Given the description of an element on the screen output the (x, y) to click on. 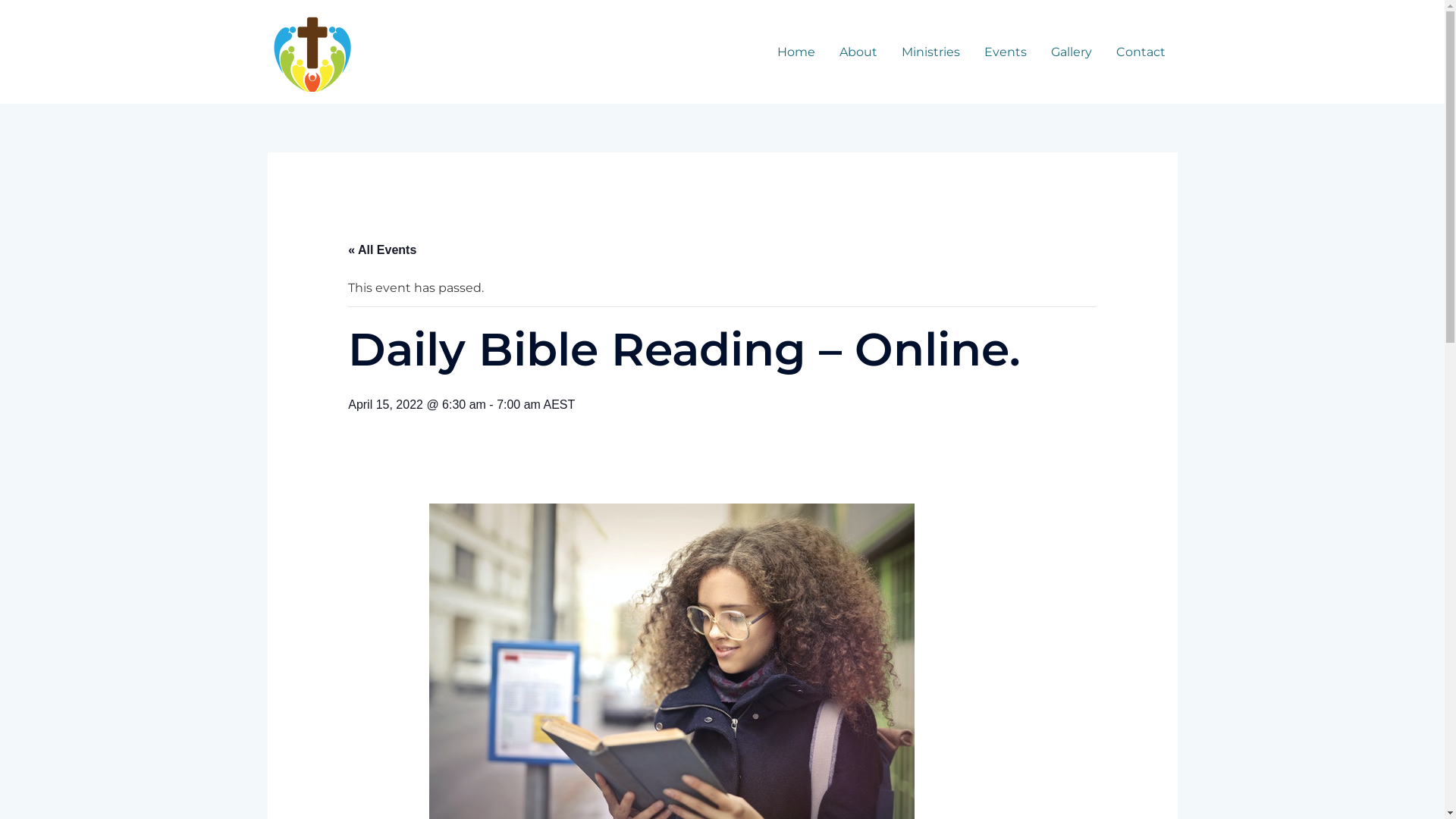
Home Element type: text (795, 51)
Gallery Element type: text (1071, 51)
Contact Element type: text (1140, 51)
Ministries Element type: text (929, 51)
Events Element type: text (1005, 51)
About Element type: text (857, 51)
